Given the description of an element on the screen output the (x, y) to click on. 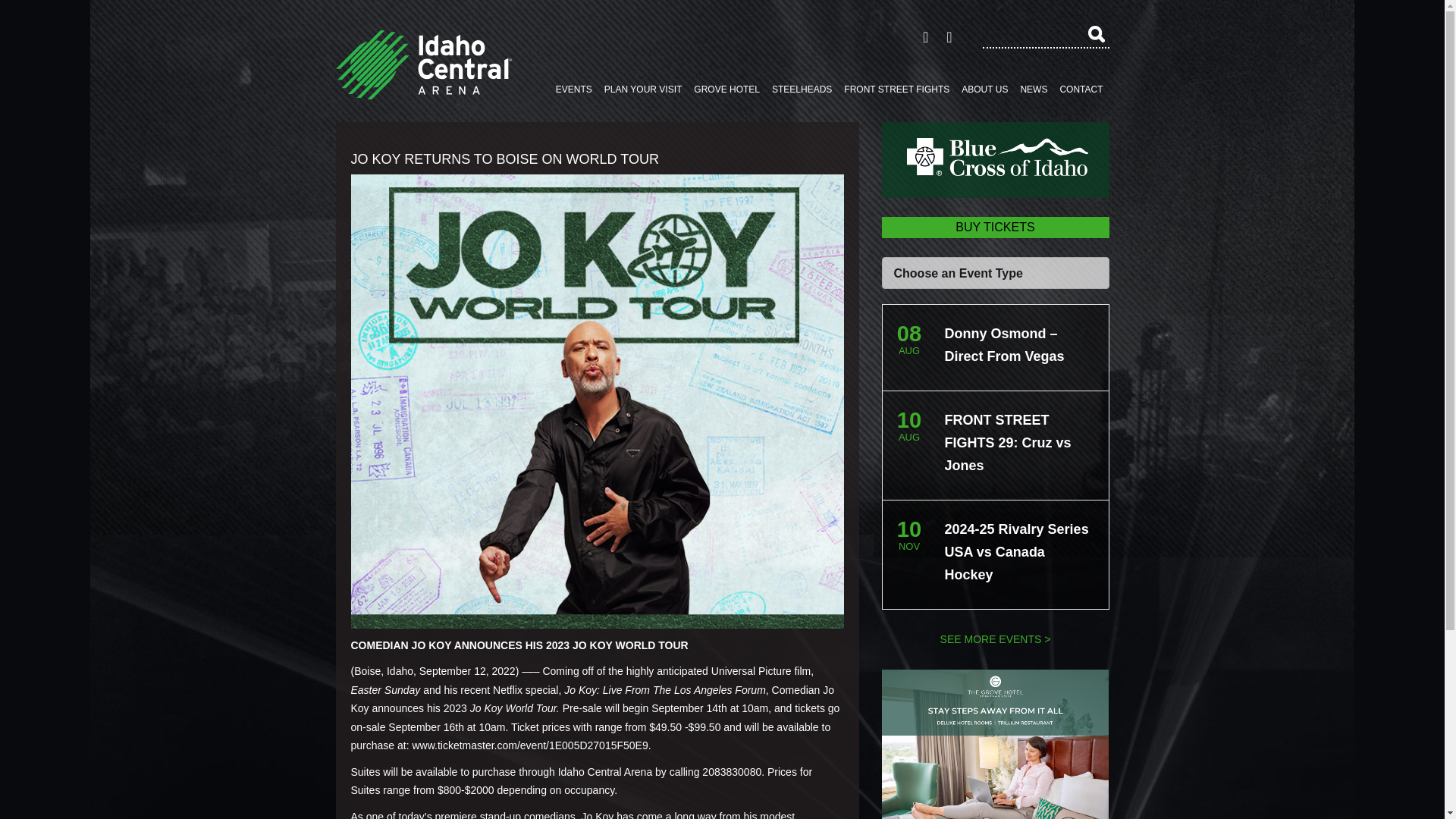
Search (1095, 33)
CONTACT (1080, 89)
STEELHEADS (801, 89)
FRONT STREET FIGHTS (896, 89)
Search for: (1045, 35)
Search (1095, 33)
ABOUT US (984, 89)
PLAN YOUR VISIT (642, 89)
NEWS (1032, 89)
GROVE HOTEL (726, 89)
Search (1095, 33)
EVENTS (574, 89)
BUY TICKETS (994, 227)
